Given the description of an element on the screen output the (x, y) to click on. 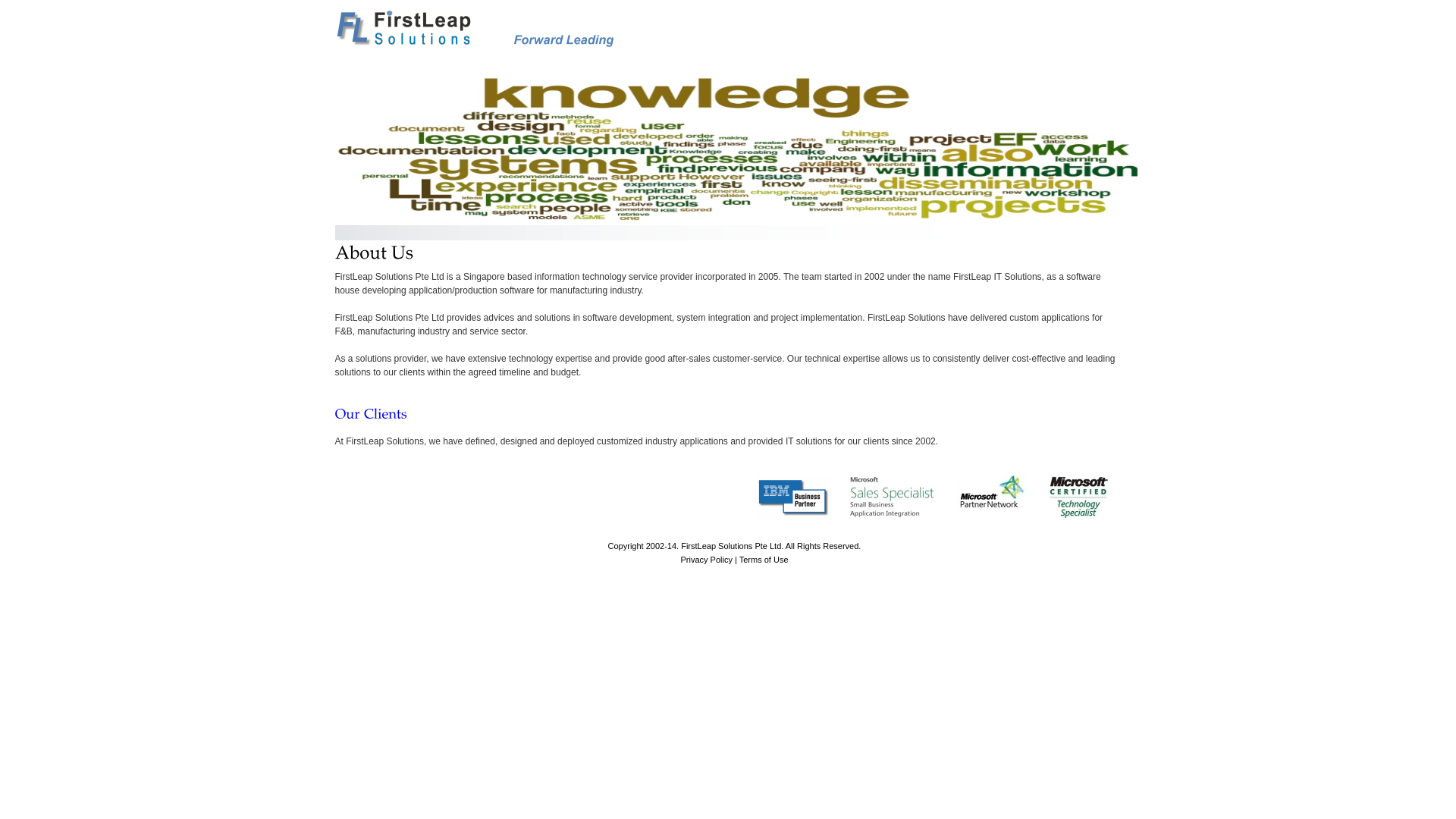
Terms of Use Element type: text (763, 559)
Privacy Policy Element type: text (705, 559)
